Given the description of an element on the screen output the (x, y) to click on. 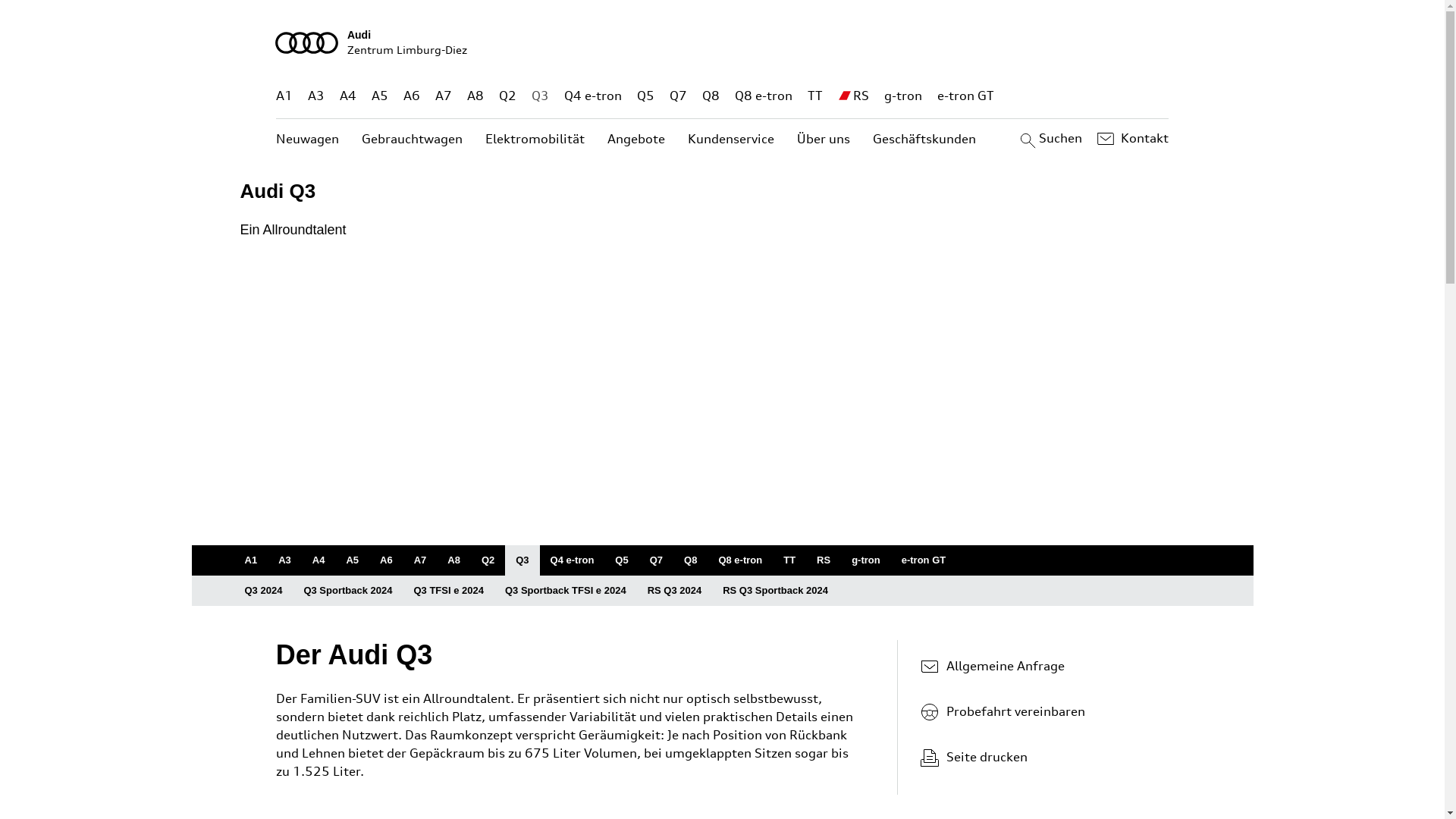
A7 Element type: text (433, 95)
A8 Element type: text (453, 560)
e-tron GT Element type: text (924, 560)
Q3 TFSI e 2024 Element type: text (448, 590)
A4 Element type: text (318, 560)
Angebote Element type: text (636, 139)
RS Element type: text (861, 95)
TT Element type: text (814, 95)
g-tron Element type: text (865, 560)
Q7 Element type: text (678, 95)
Neuwagen Element type: text (307, 139)
A1 Element type: text (250, 560)
Q7 Element type: text (656, 560)
A3 Element type: text (312, 95)
TT Element type: text (789, 560)
RS Element type: text (823, 560)
Q8 Element type: text (710, 95)
Q3 Sportback TFSI e 2024 Element type: text (565, 590)
Allgemeine Anfrage Element type: text (1038, 665)
Q2 Element type: text (487, 560)
A7 Element type: text (420, 560)
A8 Element type: text (462, 95)
Seite drucken Element type: text (1044, 756)
RS Q3 Sportback 2024 Element type: text (775, 590)
A5 Element type: text (372, 95)
Probefahrt vereinbaren Element type: text (1038, 711)
Kundenservice Element type: text (730, 139)
Q8 e-tron Element type: text (739, 560)
g-tron Element type: text (903, 95)
Q8 e-tron Element type: text (763, 95)
A5 Element type: text (352, 560)
Q5 Element type: text (621, 560)
Q5 Element type: text (645, 95)
Q8 Element type: text (690, 560)
A6 Element type: text (386, 560)
Q3 Element type: text (522, 560)
Q2 Element type: text (507, 95)
Q4 e-tron Element type: text (572, 560)
Audi
Zentrum Limburg-Diez Element type: text (722, 42)
Gebrauchtwagen Element type: text (411, 139)
A6 Element type: text (403, 95)
e-tron GT Element type: text (965, 95)
A1 Element type: text (283, 95)
RS Q3 2024 Element type: text (674, 590)
A3 Element type: text (284, 560)
Q4 e-tron Element type: text (592, 95)
Q3 2024 Element type: text (262, 590)
A4 Element type: text (343, 95)
Q3 Sportback 2024 Element type: text (347, 590)
Suchen Element type: text (1049, 138)
Q3 Element type: text (540, 95)
Kontakt Element type: text (1130, 138)
